Given the description of an element on the screen output the (x, y) to click on. 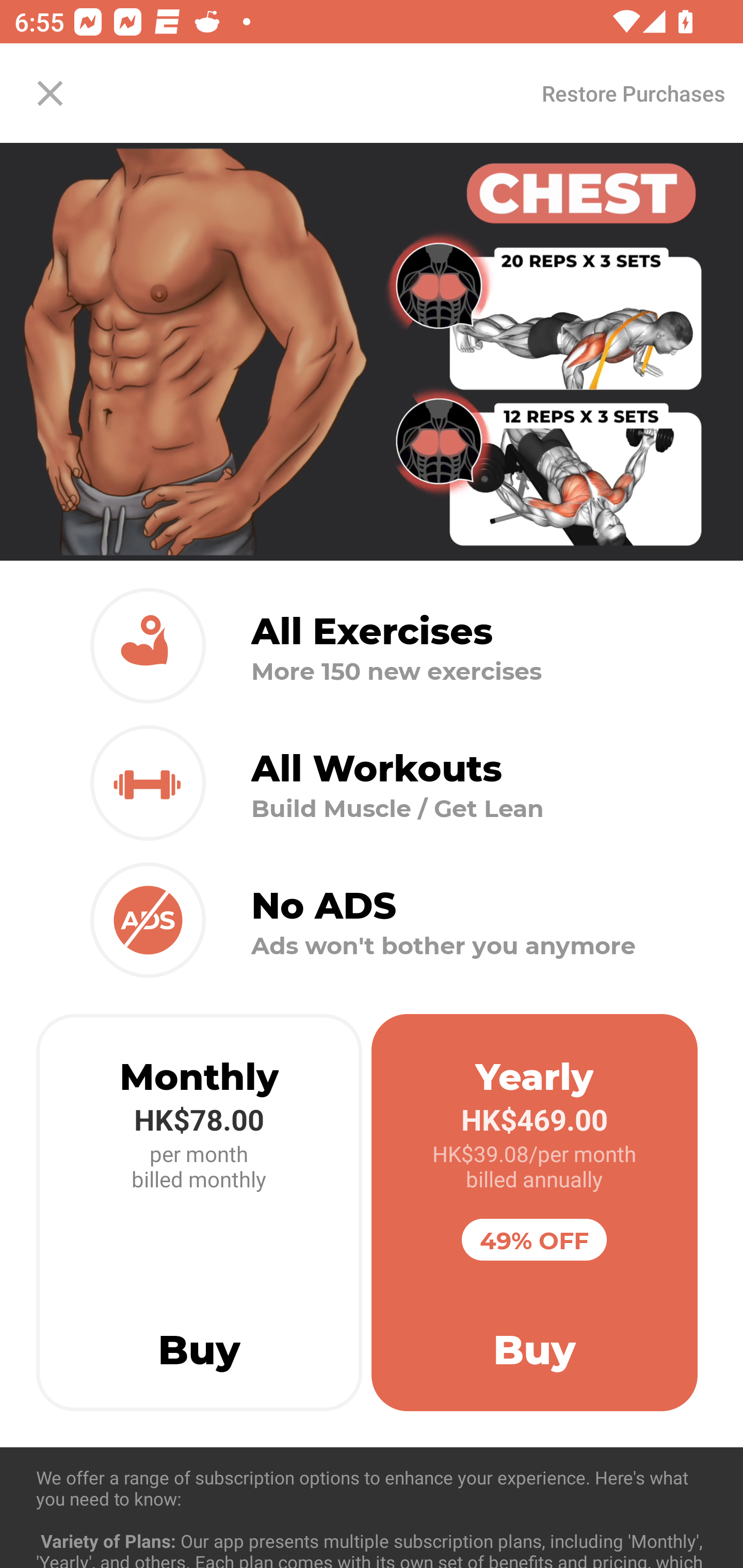
Restore Purchases (632, 92)
Monthly HK$78.00 per month
billed monthly Buy (199, 1212)
